Given the description of an element on the screen output the (x, y) to click on. 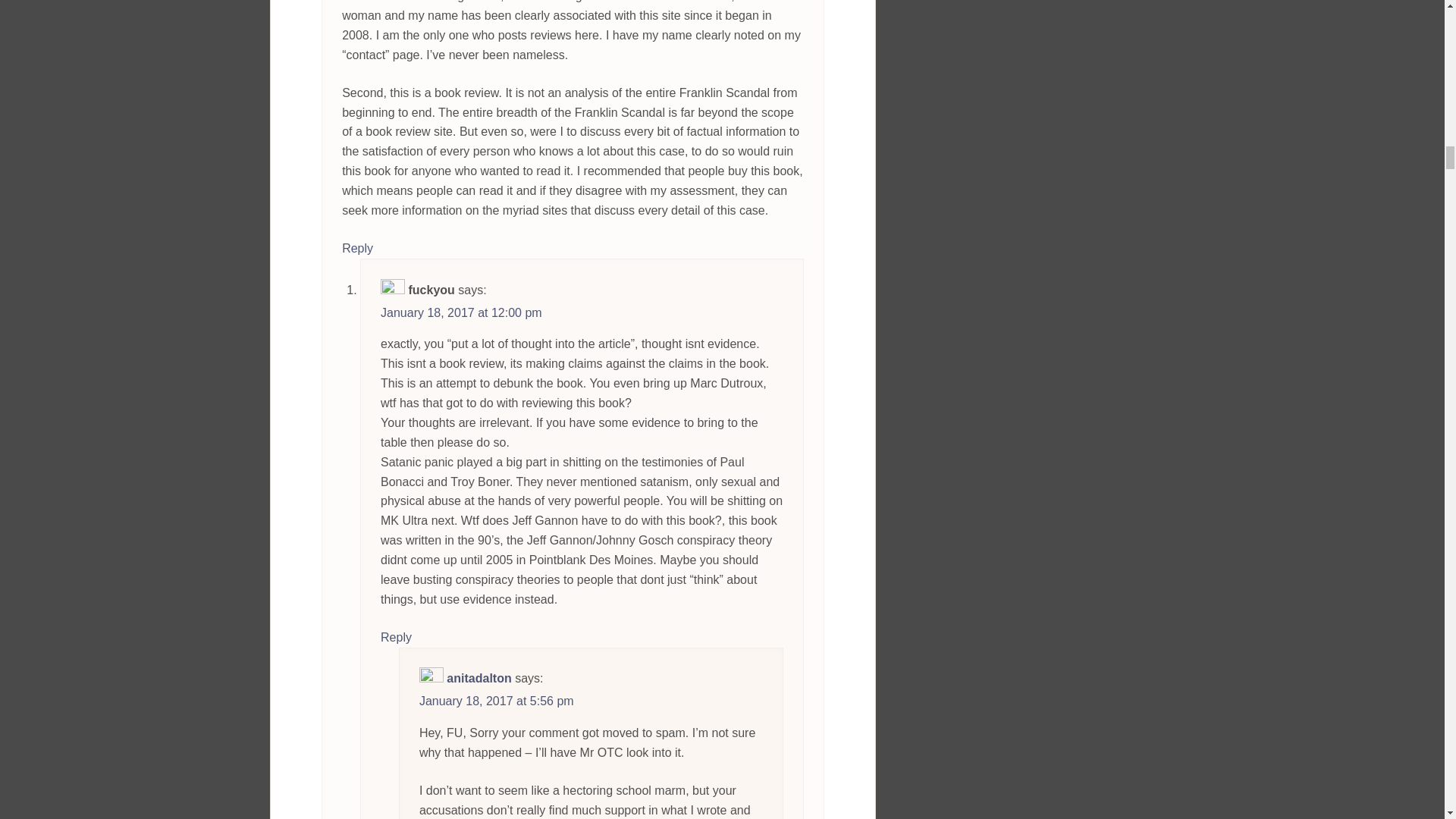
Reply (396, 637)
January 18, 2017 at 12:00 pm (460, 313)
Reply (357, 248)
anitadalton (478, 678)
